Given the description of an element on the screen output the (x, y) to click on. 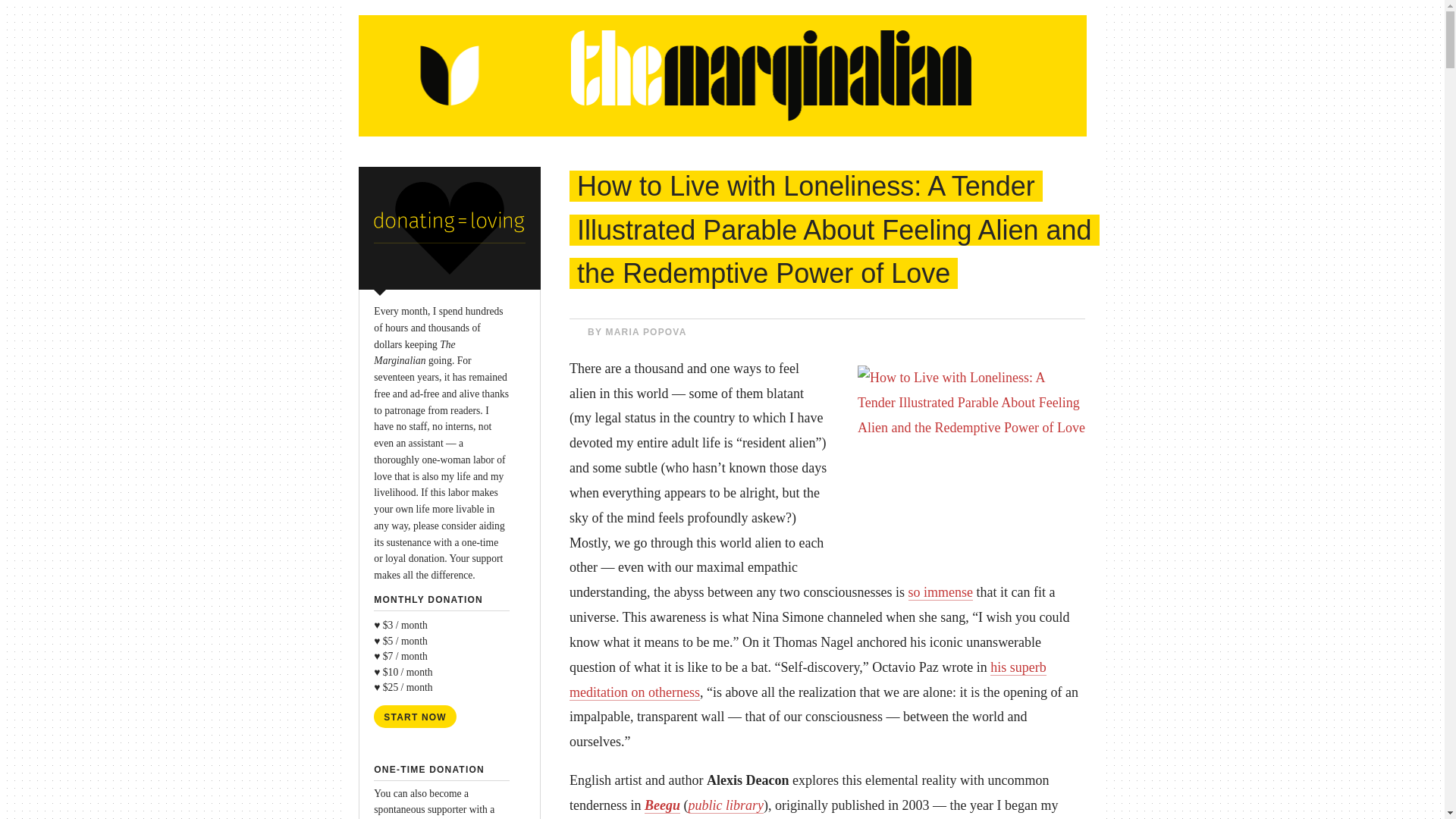
START NOW (415, 716)
